Given the description of an element on the screen output the (x, y) to click on. 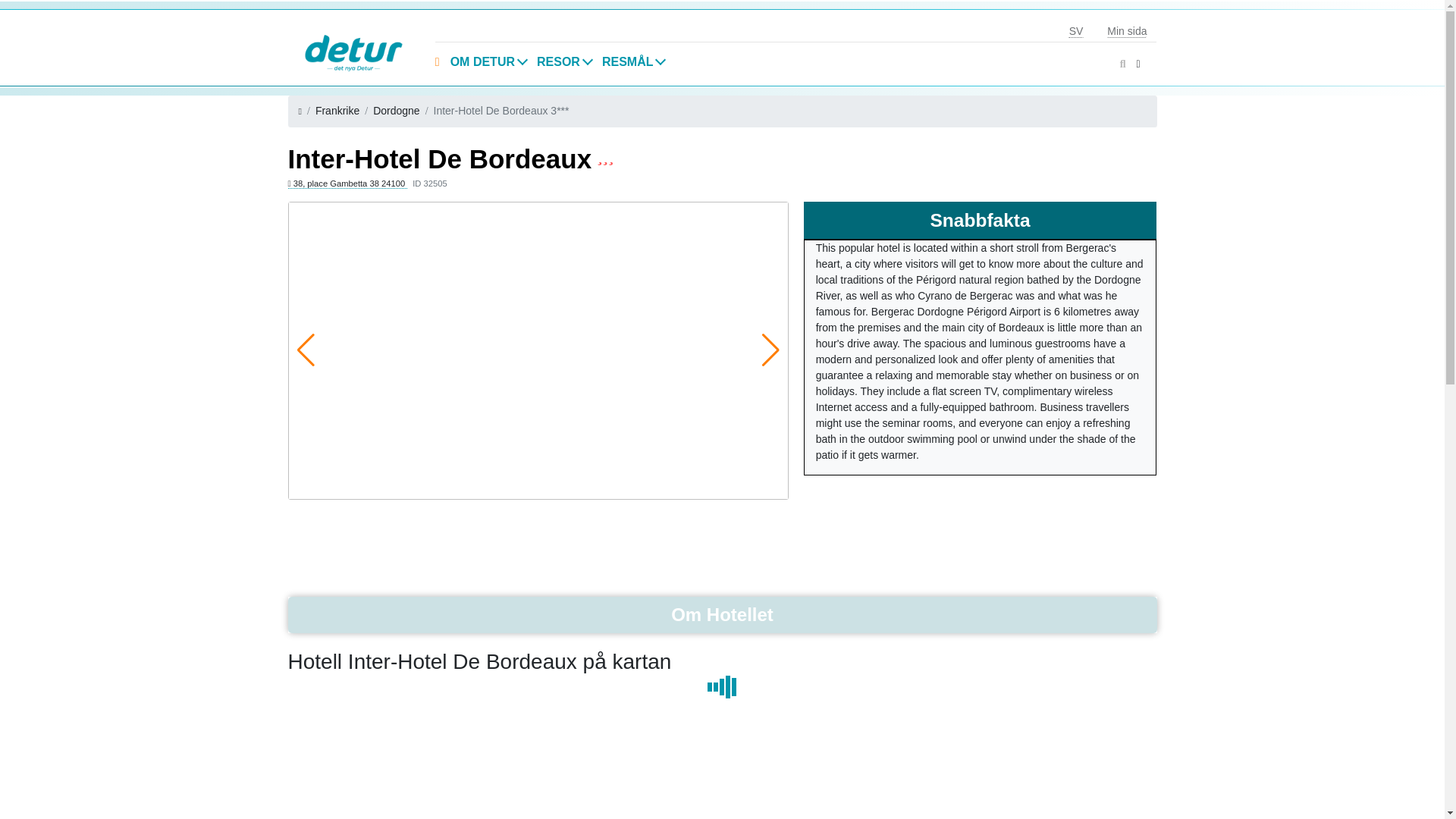
RESOR (564, 62)
Min sida (1126, 31)
OM DETUR (487, 62)
SV (1076, 31)
